Given the description of an element on the screen output the (x, y) to click on. 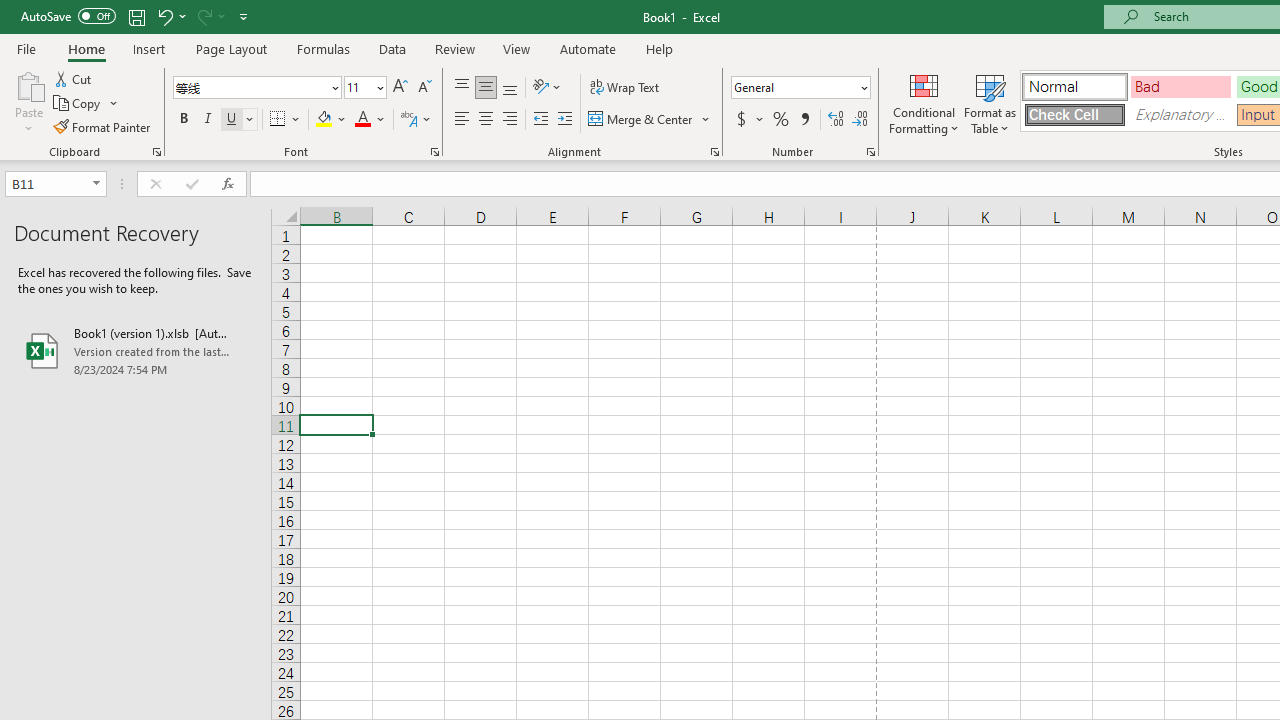
Middle Align (485, 87)
Paste (28, 102)
Center (485, 119)
Copy (85, 103)
Font Color RGB(255, 0, 0) (362, 119)
Wrap Text (624, 87)
Format as Table (990, 102)
Fill Color (331, 119)
Number Format (800, 87)
Format Cell Number (870, 151)
